Given the description of an element on the screen output the (x, y) to click on. 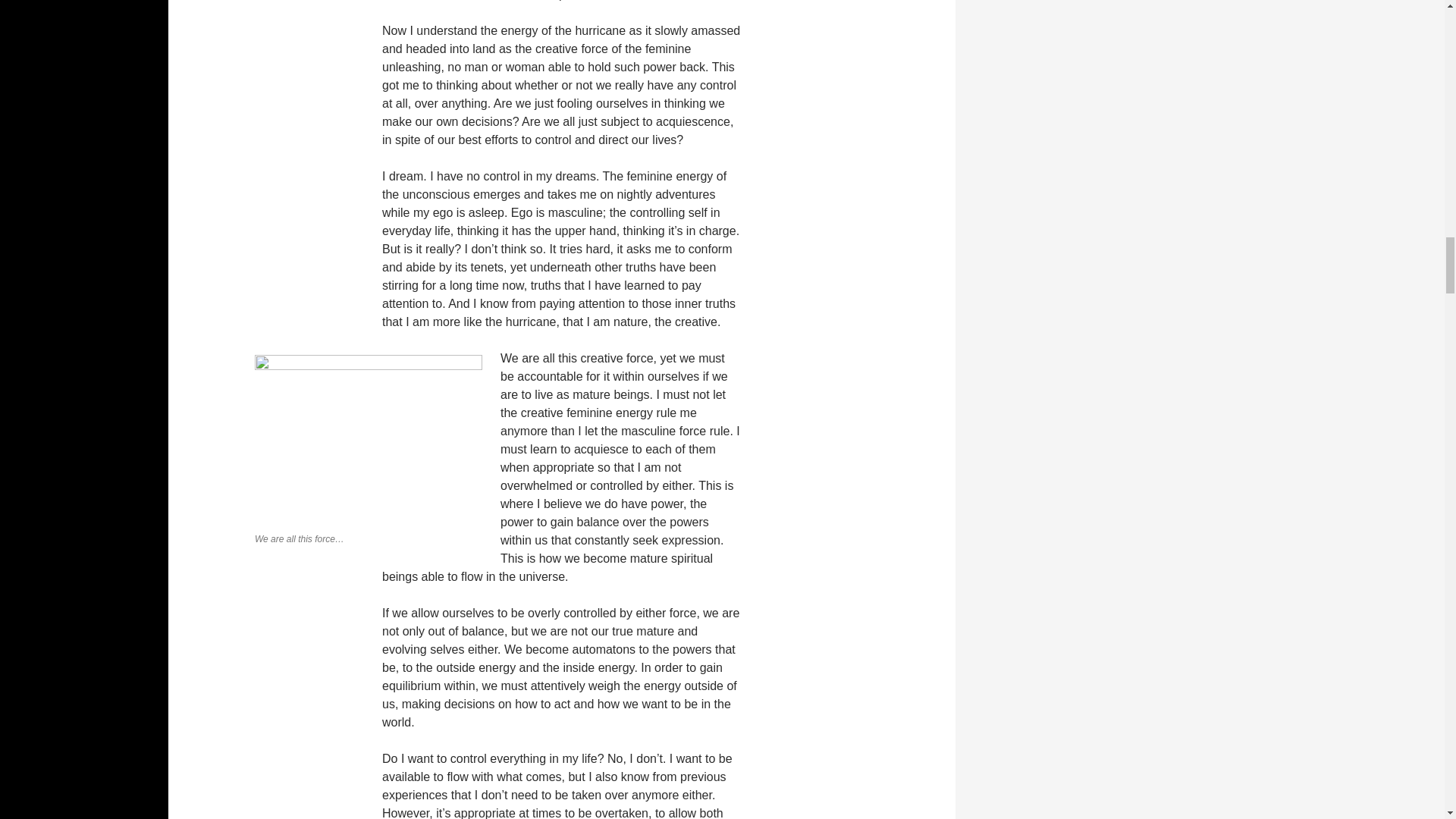
Photo by Jan (367, 439)
